Given the description of an element on the screen output the (x, y) to click on. 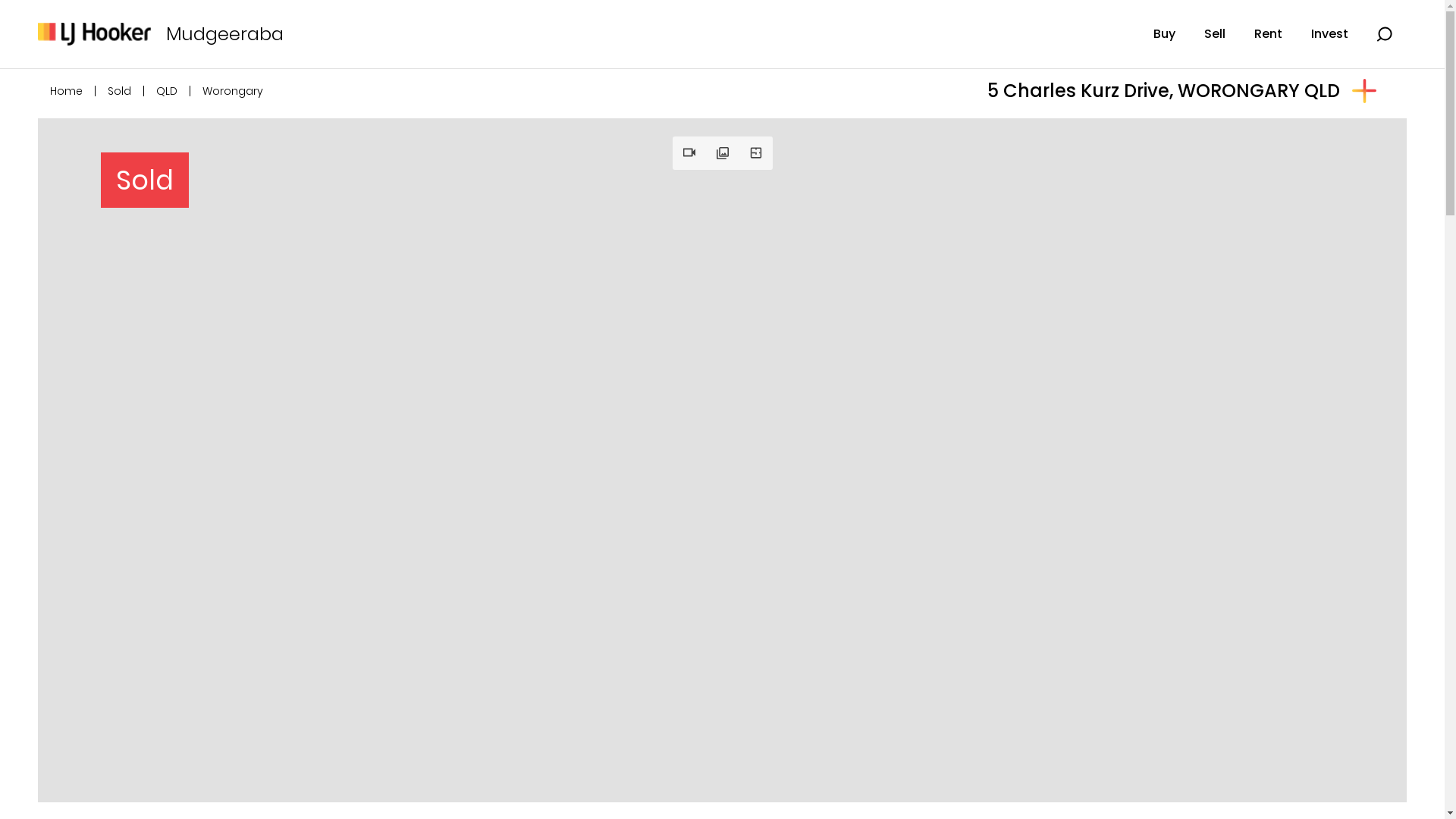
Worongary Element type: text (232, 90)
Home Element type: text (66, 90)
Sell Element type: text (1214, 34)
QLD Element type: text (167, 90)
Mudgeeraba Element type: text (216, 33)
Buy Element type: text (1164, 34)
Sold Element type: text (119, 90)
Rent Element type: text (1267, 34)
Invest Element type: text (1329, 34)
